Given the description of an element on the screen output the (x, y) to click on. 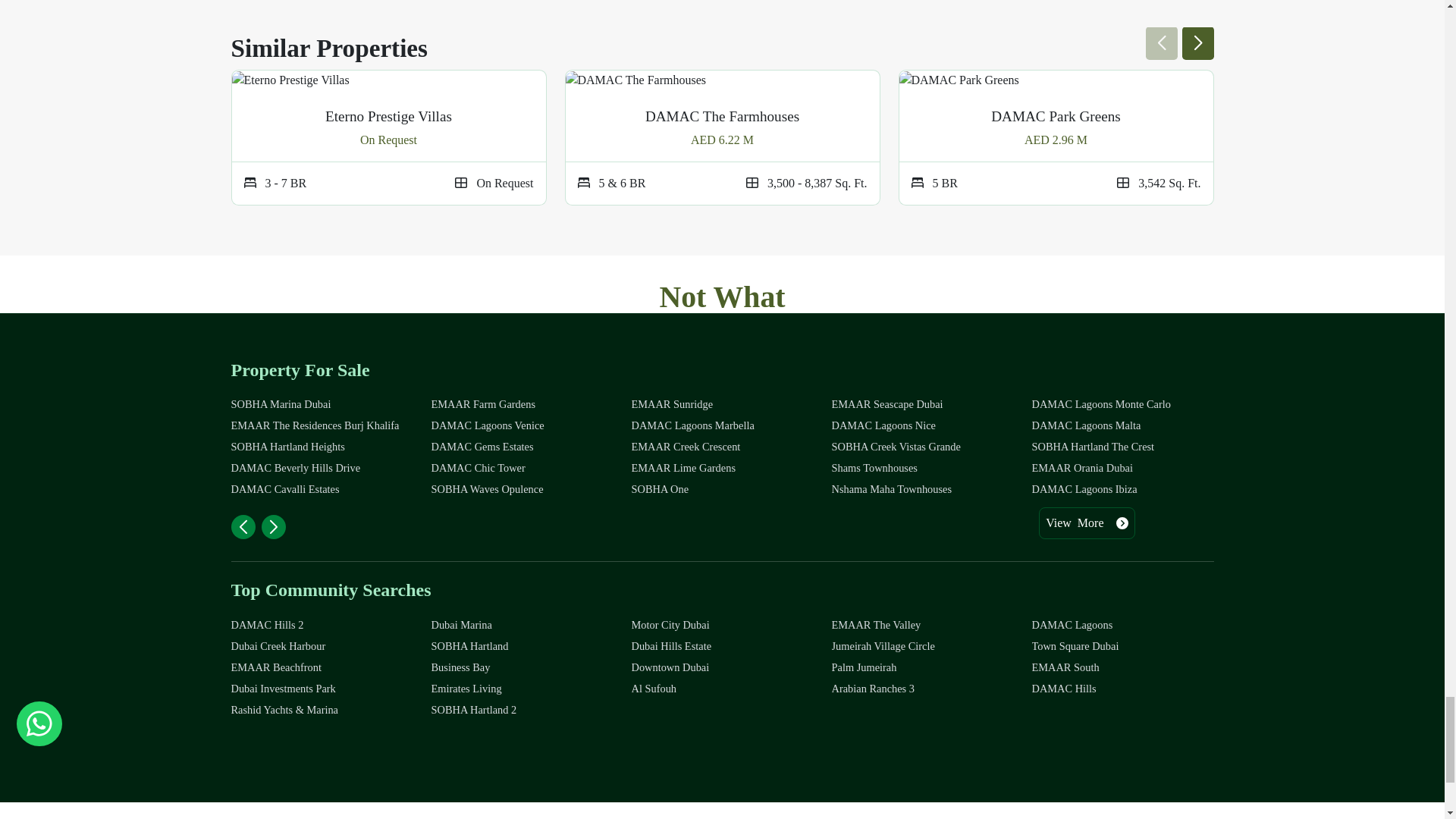
VIEW ALL PROPERTIES (722, 404)
SOBHA Marina Dubai (321, 404)
EMAAR Sunridge (721, 404)
EMAAR Farm Gardens (521, 404)
DAMAC Lagoons Monte Carlo (1121, 404)
Eterno Prestige Villas (290, 80)
DAMAC Park Greens (959, 80)
DAMAC The Farmhouses (636, 80)
EMAAR Seascape Dubai (922, 404)
